Given the description of an element on the screen output the (x, y) to click on. 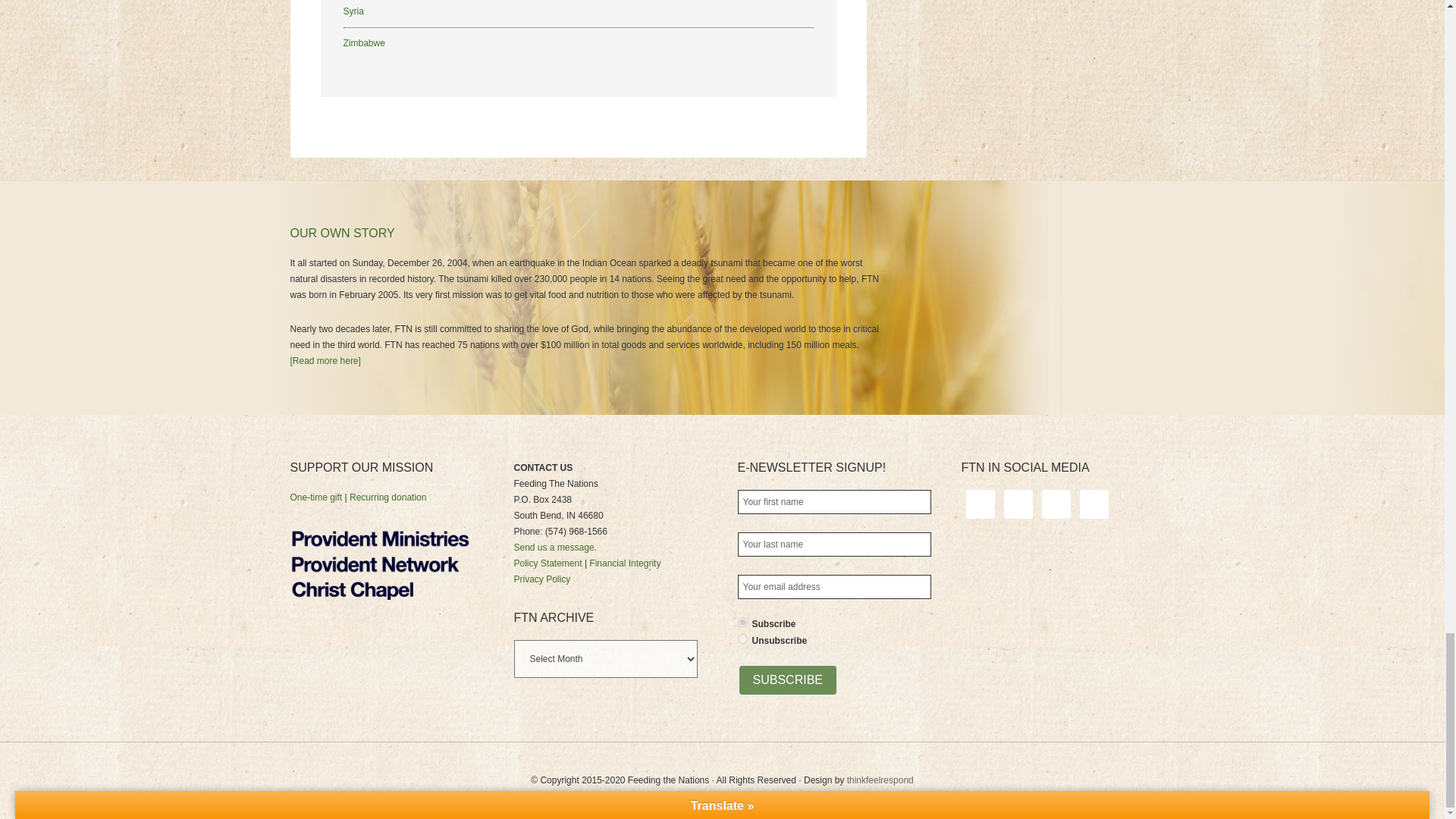
Subscribe (786, 680)
unsubscribe (741, 638)
subscribe (741, 622)
